Given the description of an element on the screen output the (x, y) to click on. 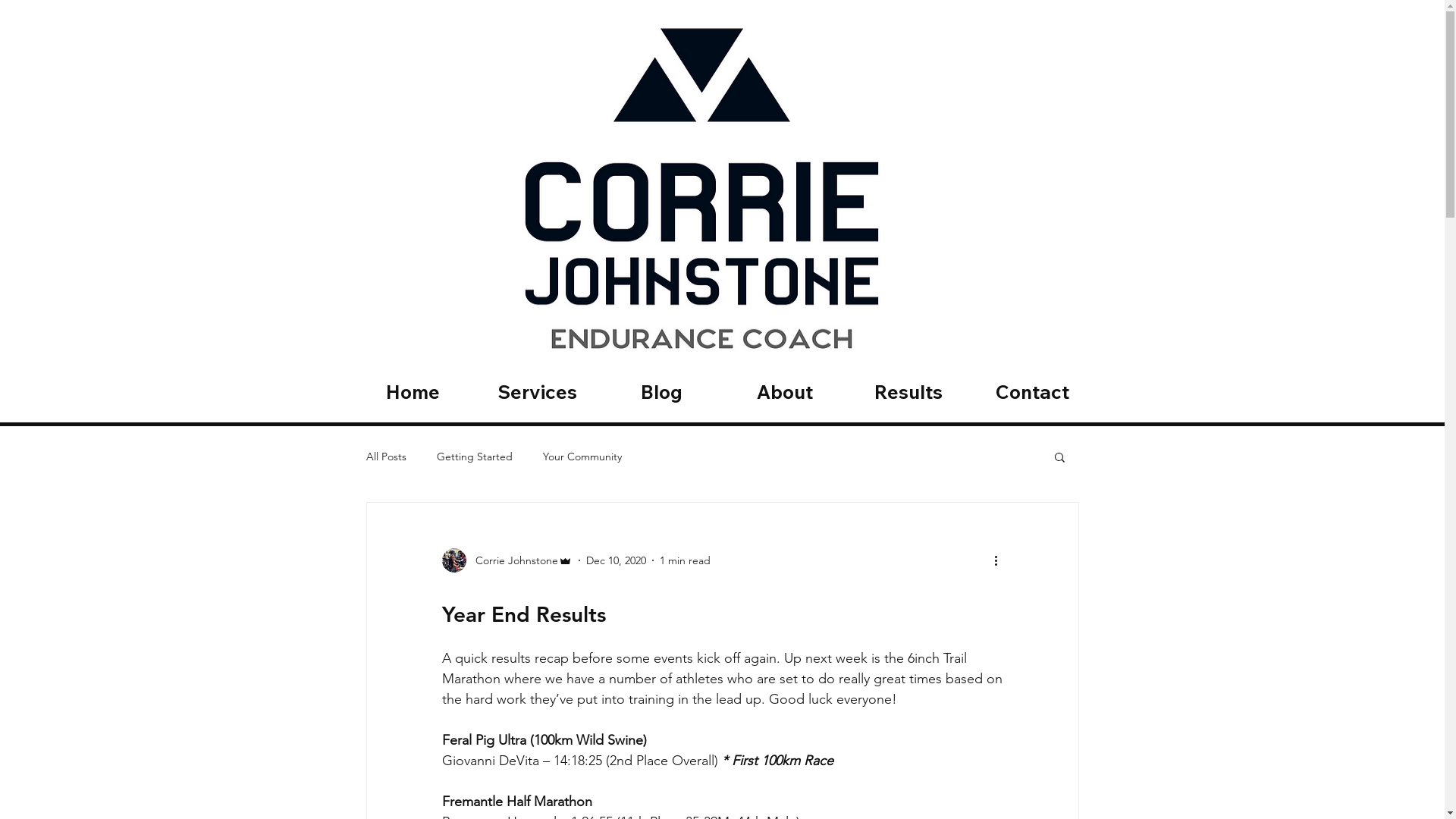
Contact Element type: text (1032, 391)
Services Element type: text (536, 391)
About Element type: text (785, 391)
Results Element type: text (907, 391)
All Posts Element type: text (385, 456)
Your Community Element type: text (581, 456)
Home Element type: text (412, 391)
Getting Started Element type: text (474, 456)
Blog Element type: text (660, 391)
Corrie Johnstone Element type: text (506, 560)
